Given the description of an element on the screen output the (x, y) to click on. 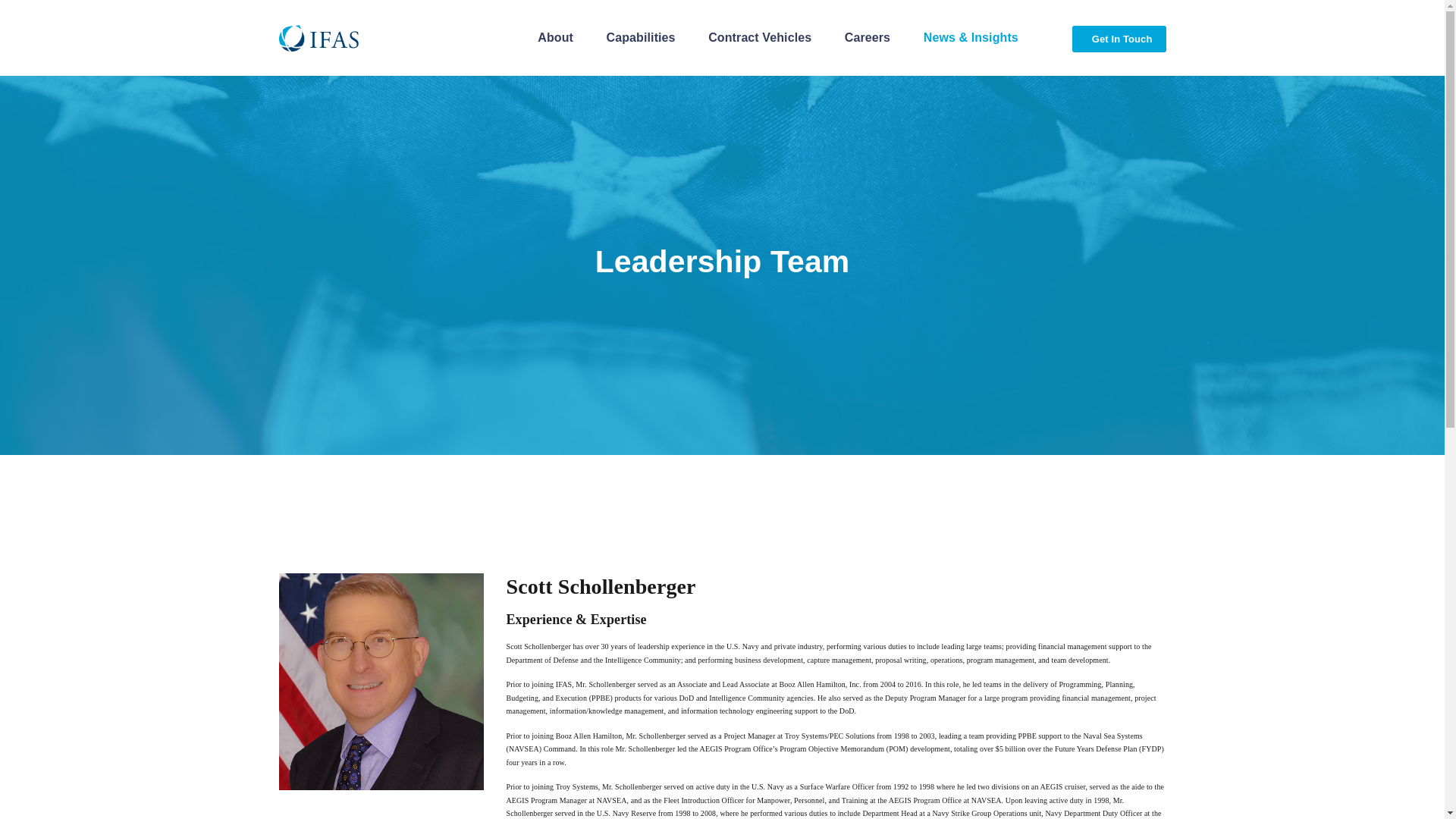
IFAS (319, 38)
Get In Touch (1118, 38)
Capabilities (637, 38)
Contract Vehicles (756, 38)
Careers (863, 38)
